Given the description of an element on the screen output the (x, y) to click on. 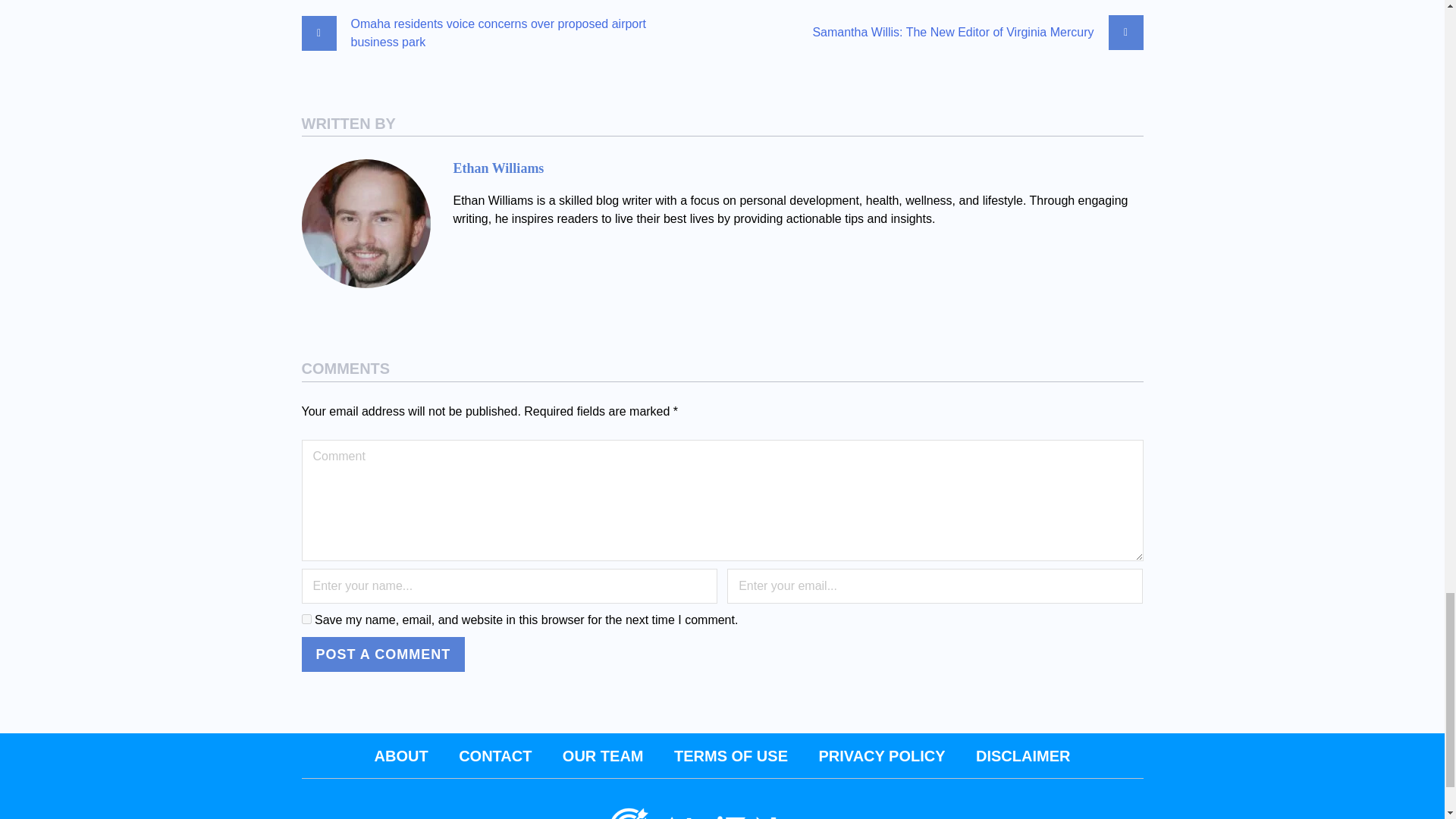
yes (306, 619)
POST a comment (383, 654)
DISCLAIMER (1022, 755)
Posts by Ethan Williams (498, 168)
Ethan Williams (498, 168)
OUR TEAM (602, 755)
POST a comment (383, 654)
ABOUT (401, 755)
PRIVACY POLICY (881, 755)
